Given the description of an element on the screen output the (x, y) to click on. 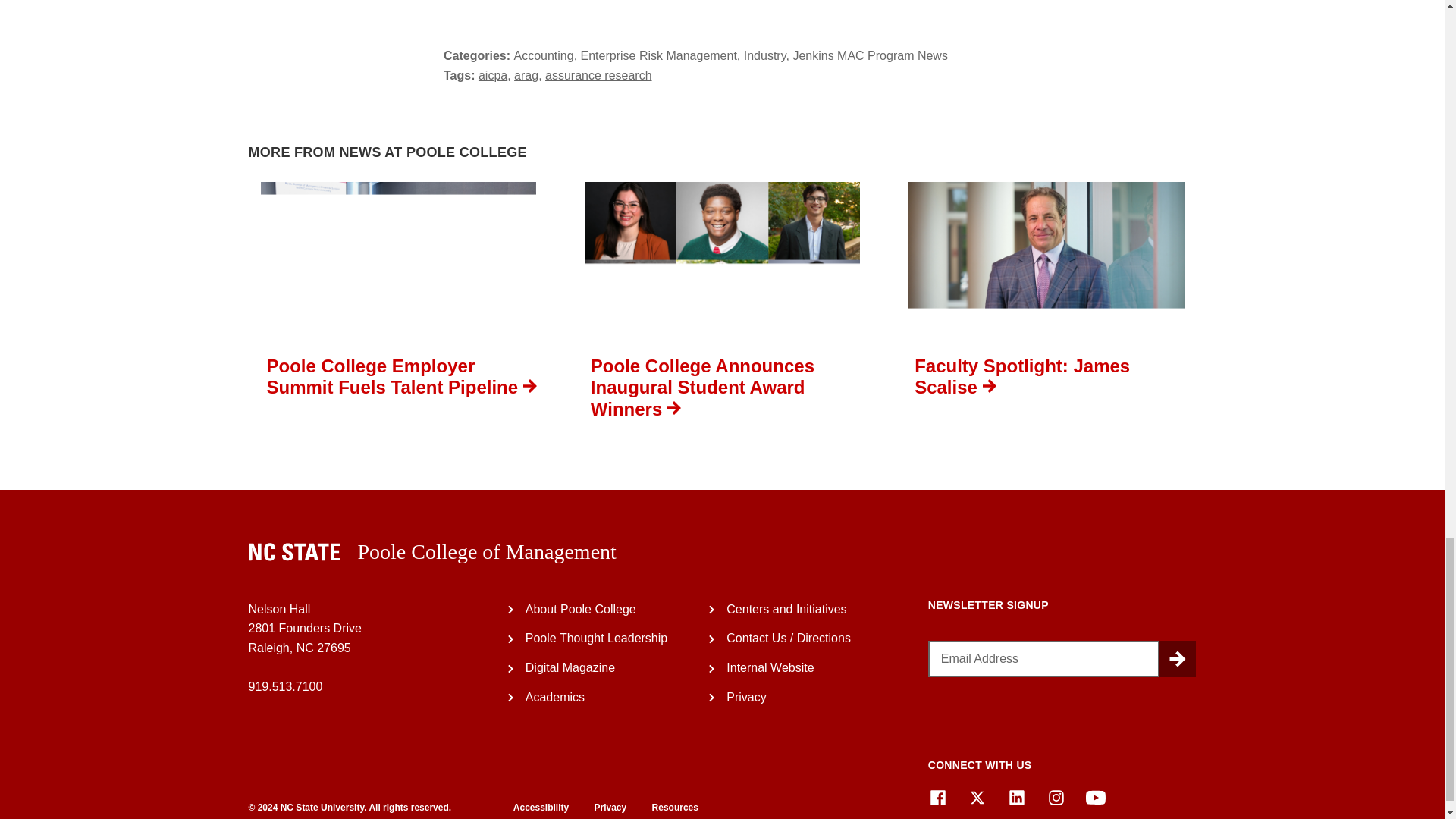
LinkedIn (1016, 797)
X (977, 797)
Facebook (937, 797)
YouTube (1095, 797)
Instagram (1055, 797)
